Given the description of an element on the screen output the (x, y) to click on. 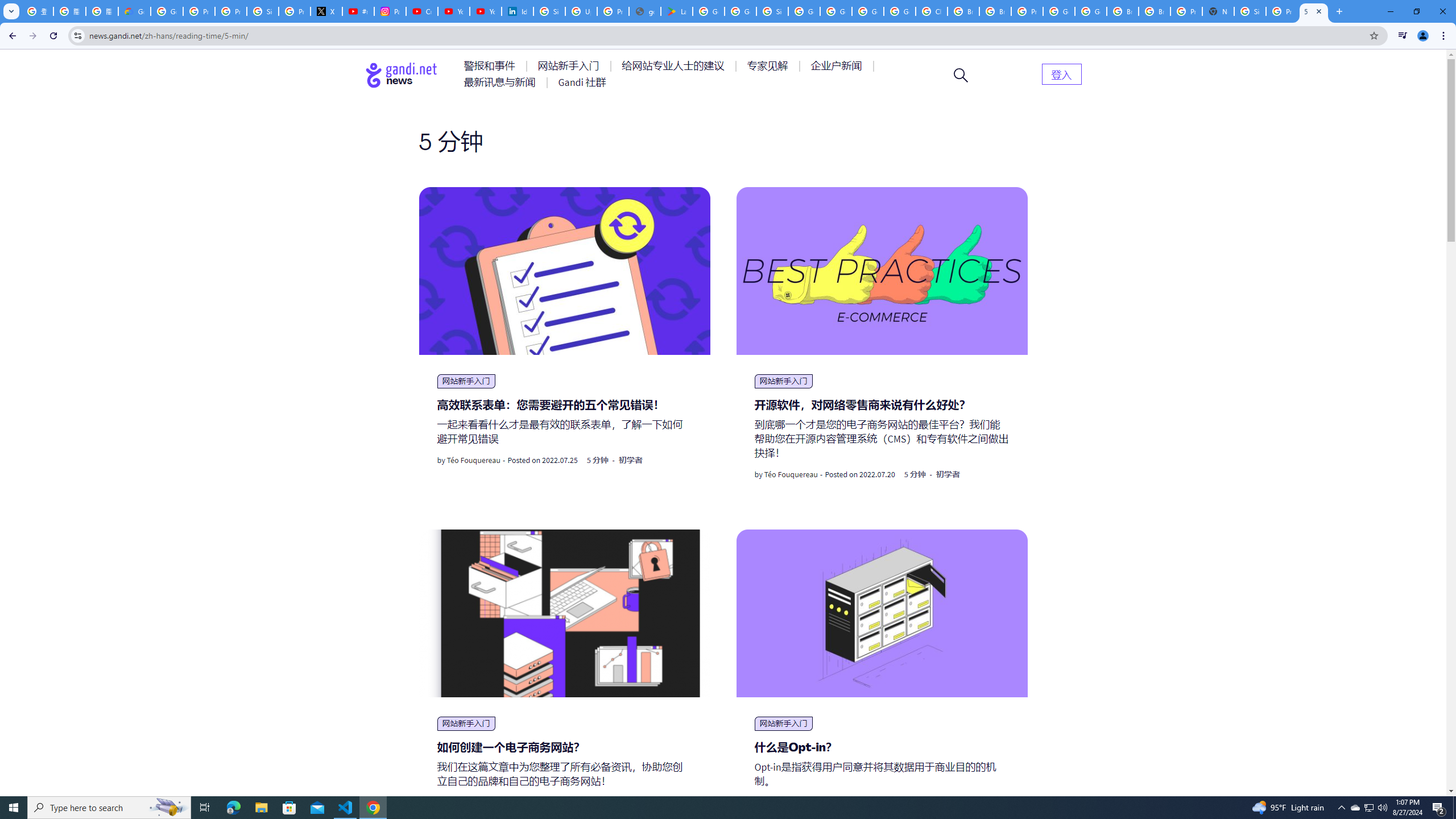
Go to home (401, 75)
Open search form (960, 74)
Browse Chrome as a guest - Computer - Google Chrome Help (963, 11)
Browse Chrome as a guest - Computer - Google Chrome Help (1123, 11)
Sign in - Google Accounts (772, 11)
Sign in - Google Accounts (549, 11)
